Given the description of an element on the screen output the (x, y) to click on. 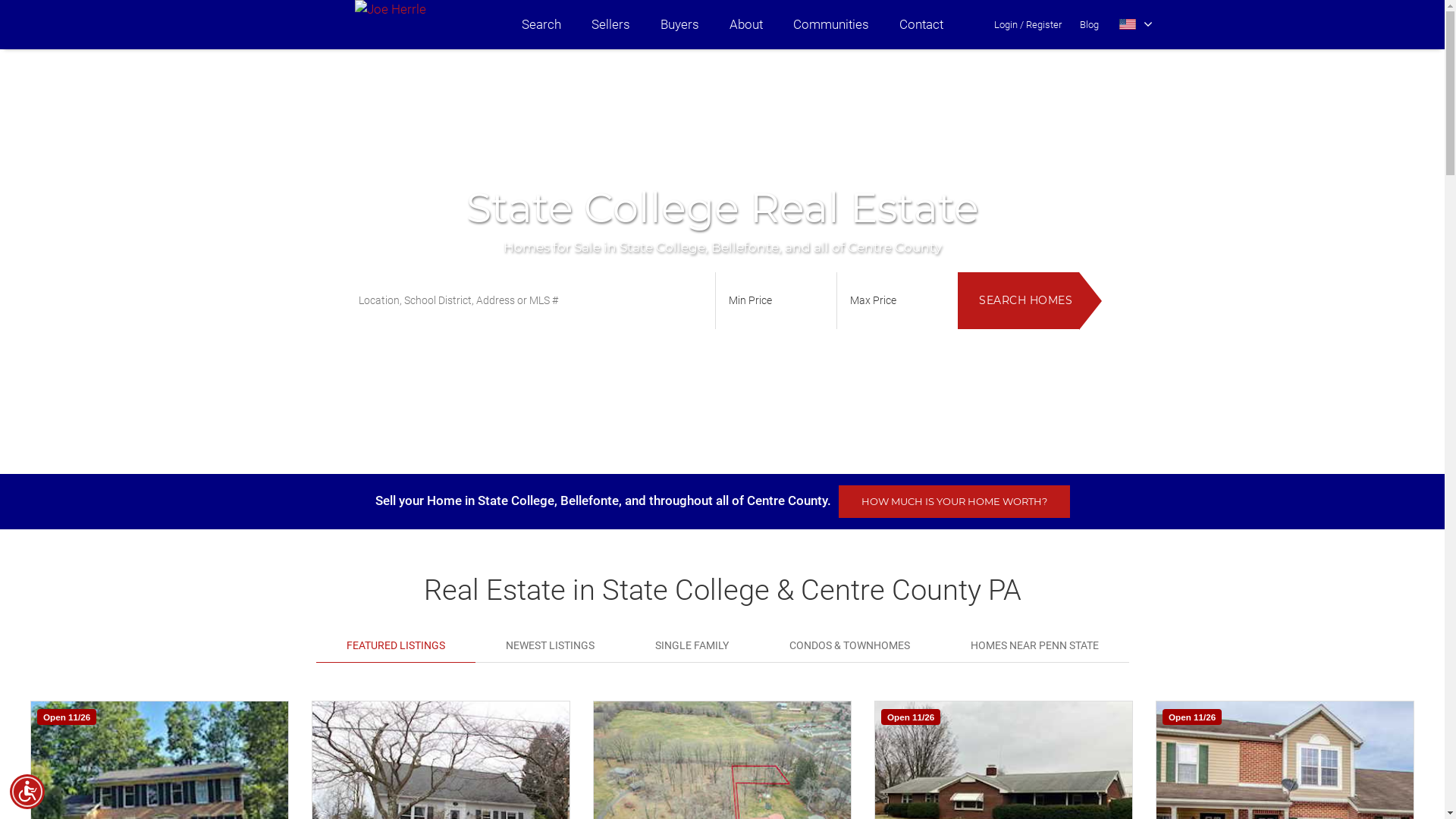
Contact Element type: text (921, 24)
Sellers Element type: text (610, 24)
Enter Location, School District, Address or MLS # Element type: hover (528, 300)
Buyers Element type: text (678, 24)
HOW MUCH IS YOUR HOME WORTH? Element type: text (954, 501)
Register Element type: text (1042, 24)
About Element type: text (746, 24)
SEARCH HOMES Element type: text (1017, 300)
Login/ Element type: text (1009, 24)
Search Element type: text (541, 24)
Blog Element type: text (1088, 24)
Communities Element type: text (831, 24)
Select Language Element type: hover (1135, 24)
